Given the description of an element on the screen output the (x, y) to click on. 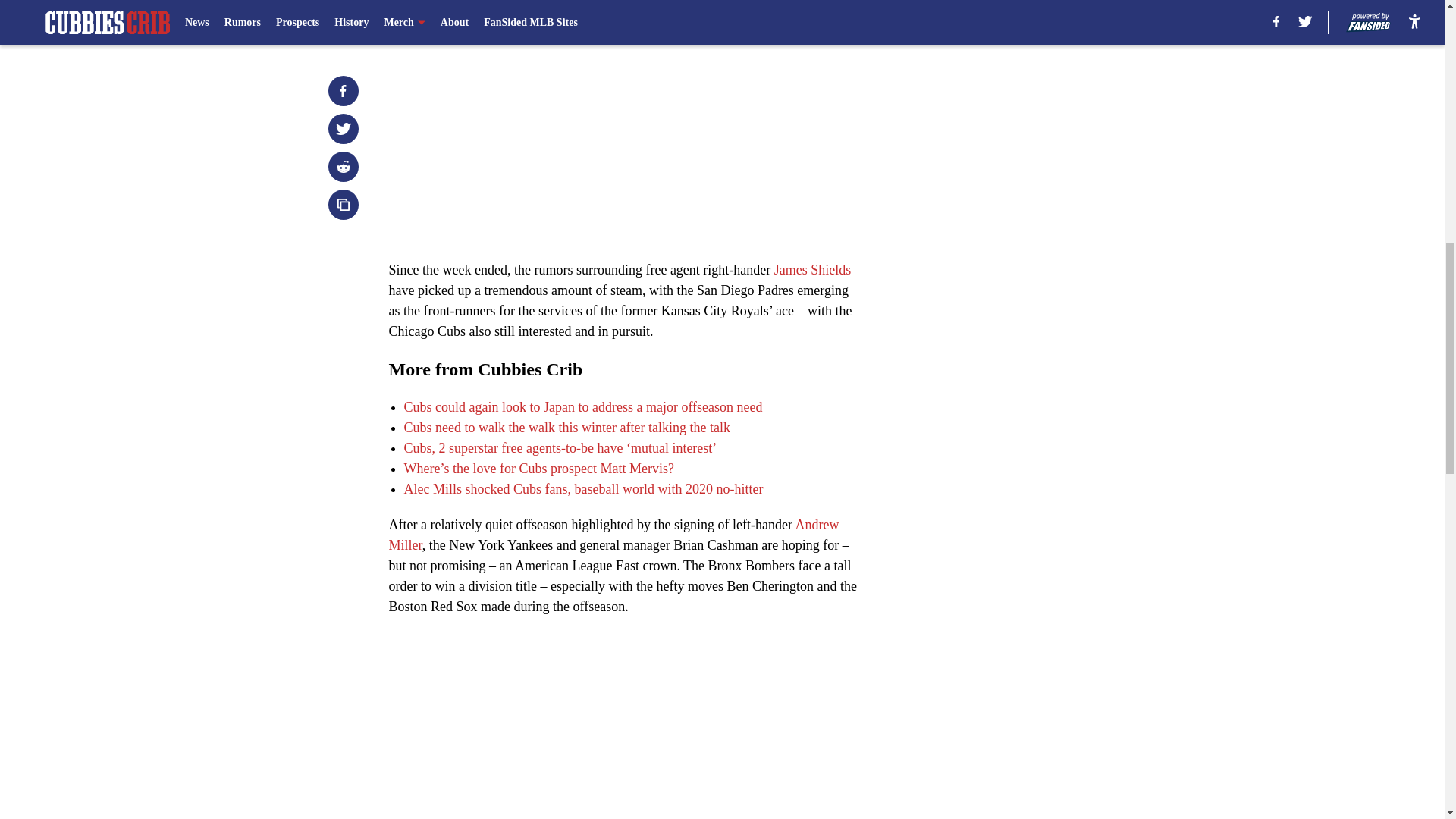
James Shields (812, 269)
Andrew Miller (613, 534)
